Given the description of an element on the screen output the (x, y) to click on. 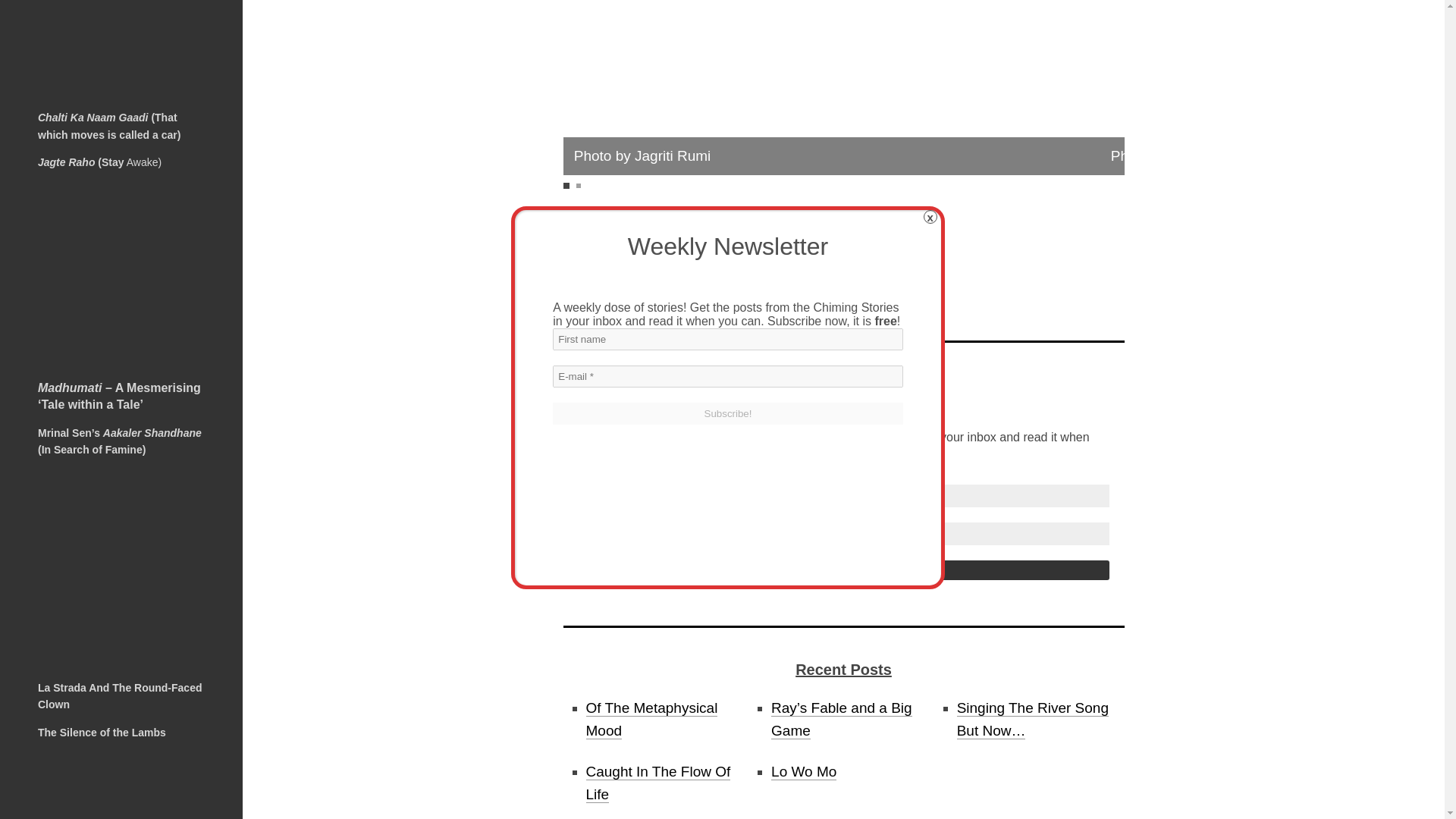
Subscribe! (843, 569)
